Given the description of an element on the screen output the (x, y) to click on. 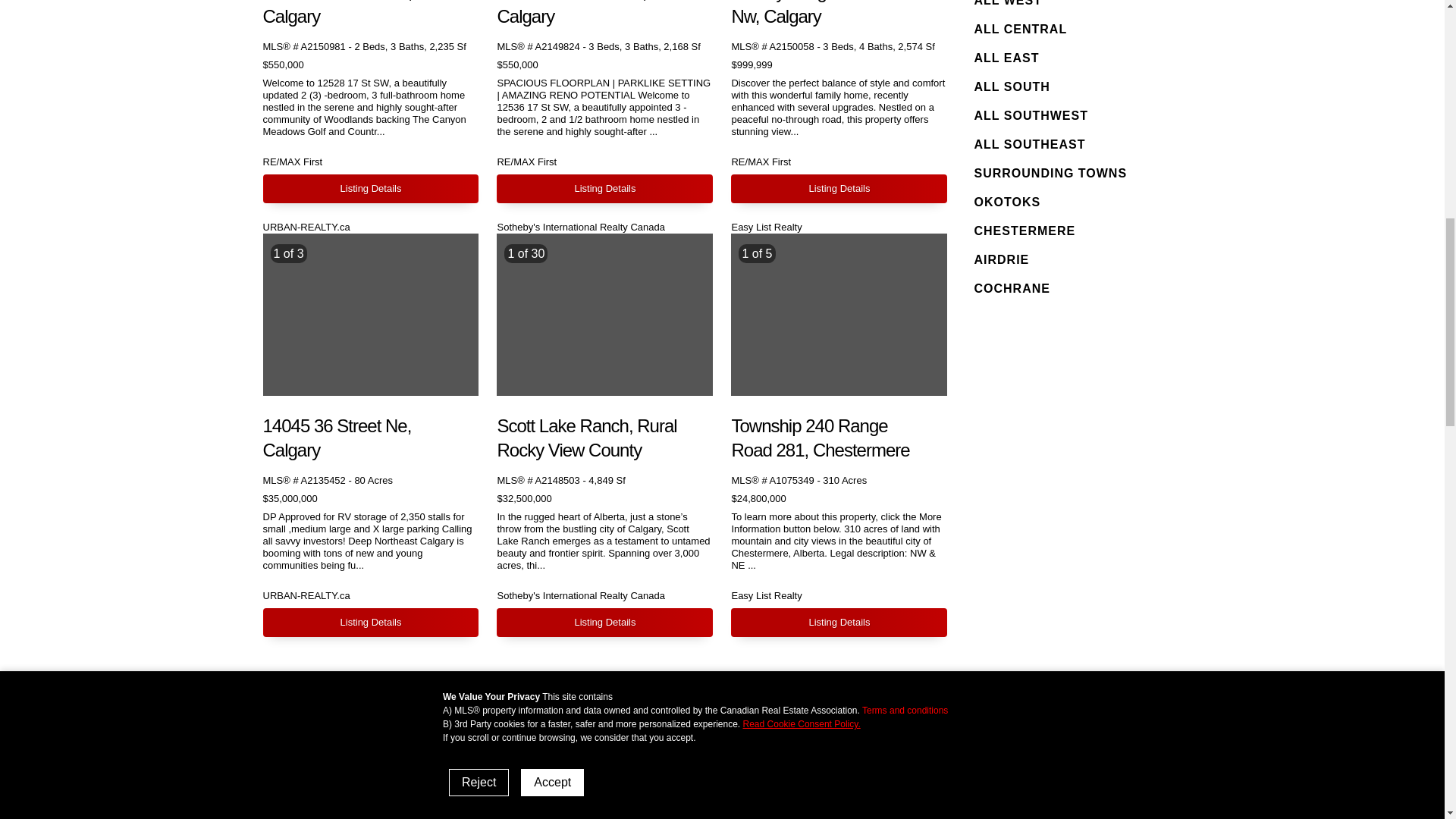
Save Listing (468, 423)
14045 36 Street Ne in Stoney 4 For Sale (370, 314)
Save Listing (702, 423)
12536 17 Street Sw in Woodlands for Sale (604, 188)
Scott Lake Ranch in NONE For Sale (604, 314)
Scott Lake Ranch in NONE for Sale (604, 622)
12528 17 Street Sw in Woodlands for Sale (370, 188)
77 Royal Highland Road Nw in Royal Oak for Sale (838, 188)
14045 36 Street Ne in Stoney 4 for Sale (370, 622)
